Given the description of an element on the screen output the (x, y) to click on. 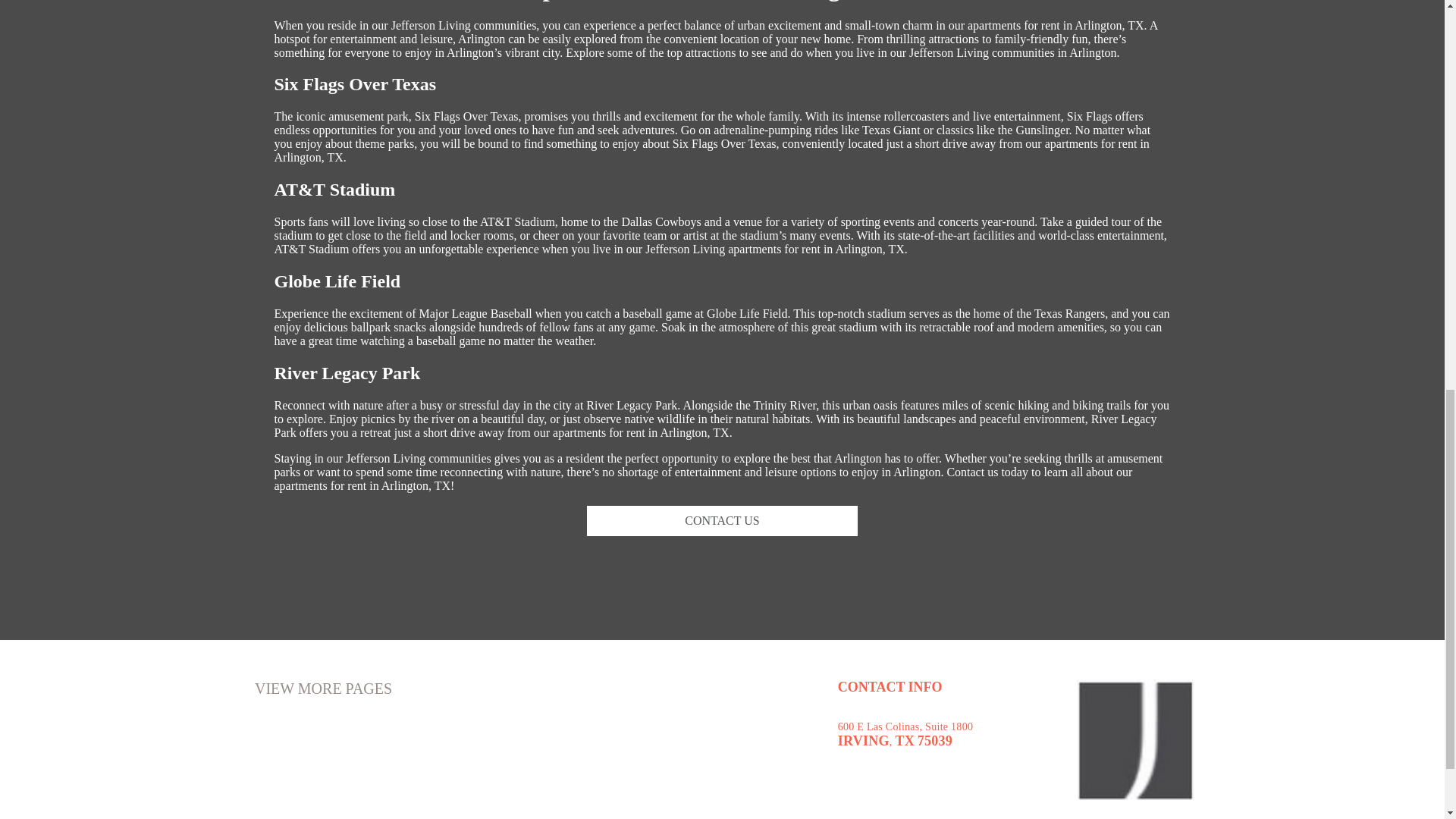
Arlington, TX (415, 485)
VIEW MORE PAGES (323, 688)
Arlington, TX (1108, 24)
CONTACT US (721, 521)
